Given the description of an element on the screen output the (x, y) to click on. 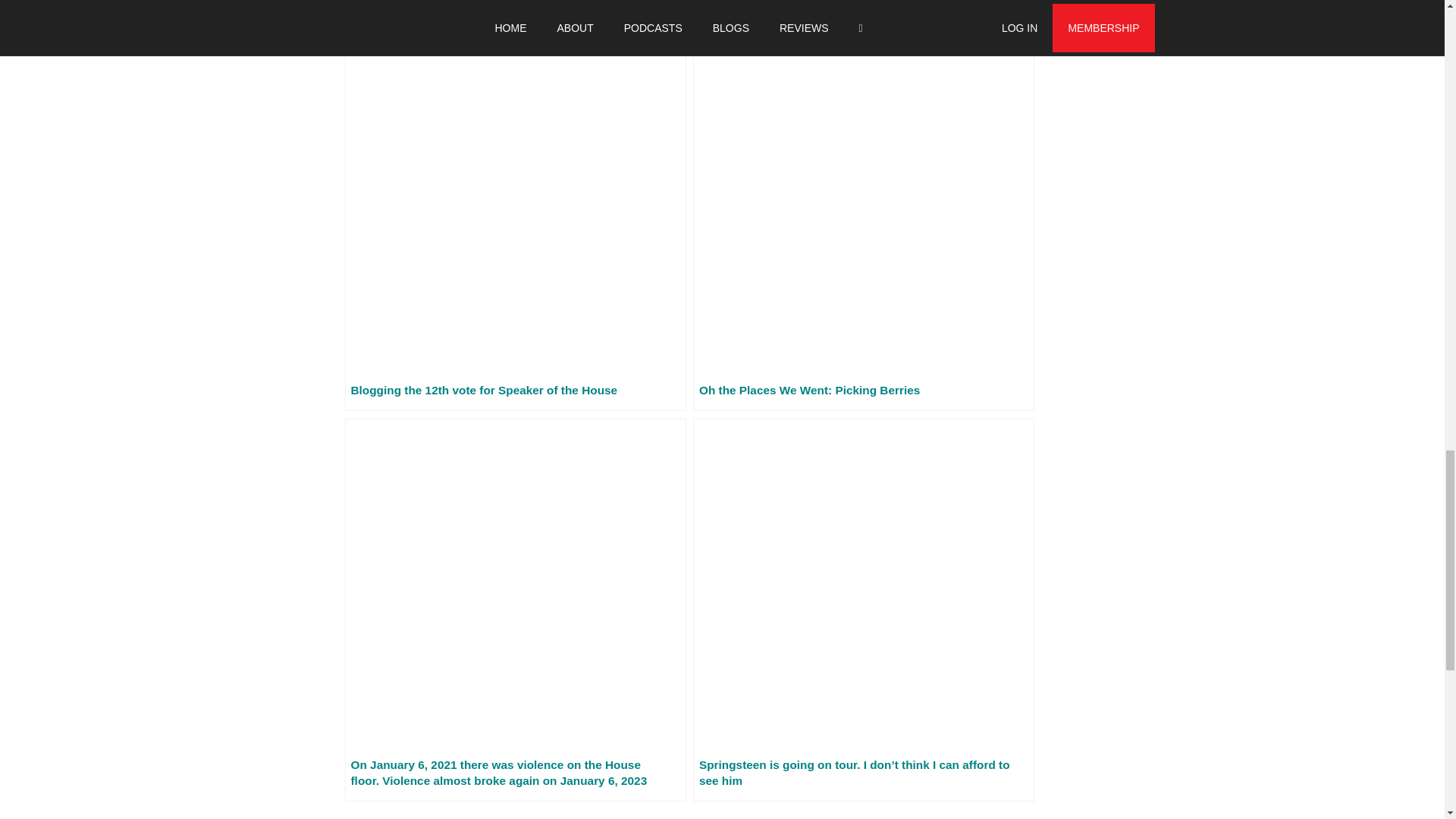
Oh the Places We Went: Picking Berries (863, 228)
Blogging the 12th vote for Speaker of the House (514, 228)
Blogging the 12th vote for Speaker of the House (514, 228)
Oh the Places We Went: Picking Berries (863, 228)
